Given the description of an element on the screen output the (x, y) to click on. 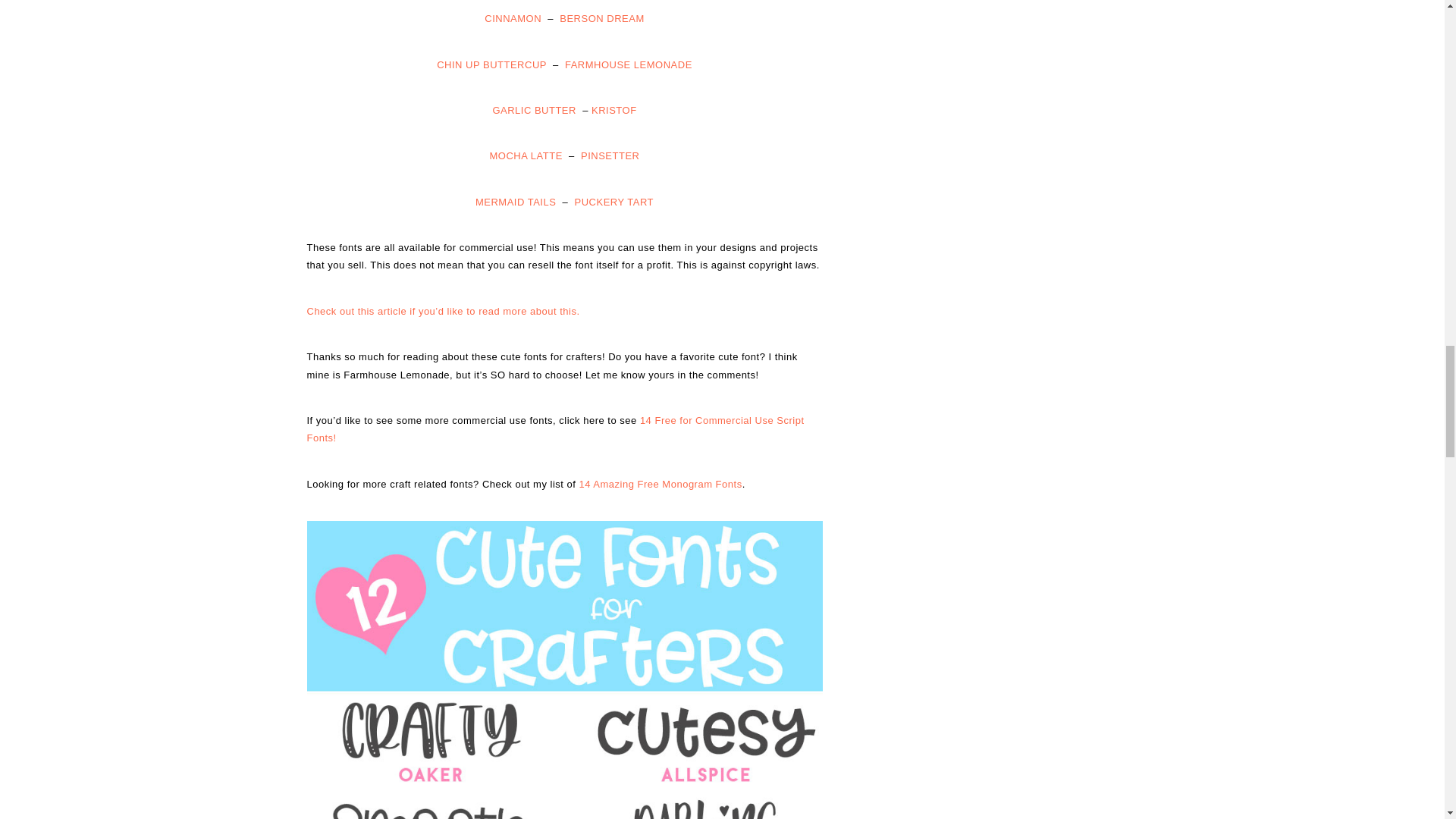
PINSETTER (609, 155)
CHIN UP BUTTERCUP (491, 64)
CINNAMON (512, 18)
FARMHOUSE LEMONADE (628, 64)
PUCKERY TART (614, 202)
BERSON DREAM (601, 18)
GARLIC BUTTER (534, 110)
MERMAID TAILS (516, 202)
MOCHA LATTE (525, 155)
KRISTOF (614, 110)
